Given the description of an element on the screen output the (x, y) to click on. 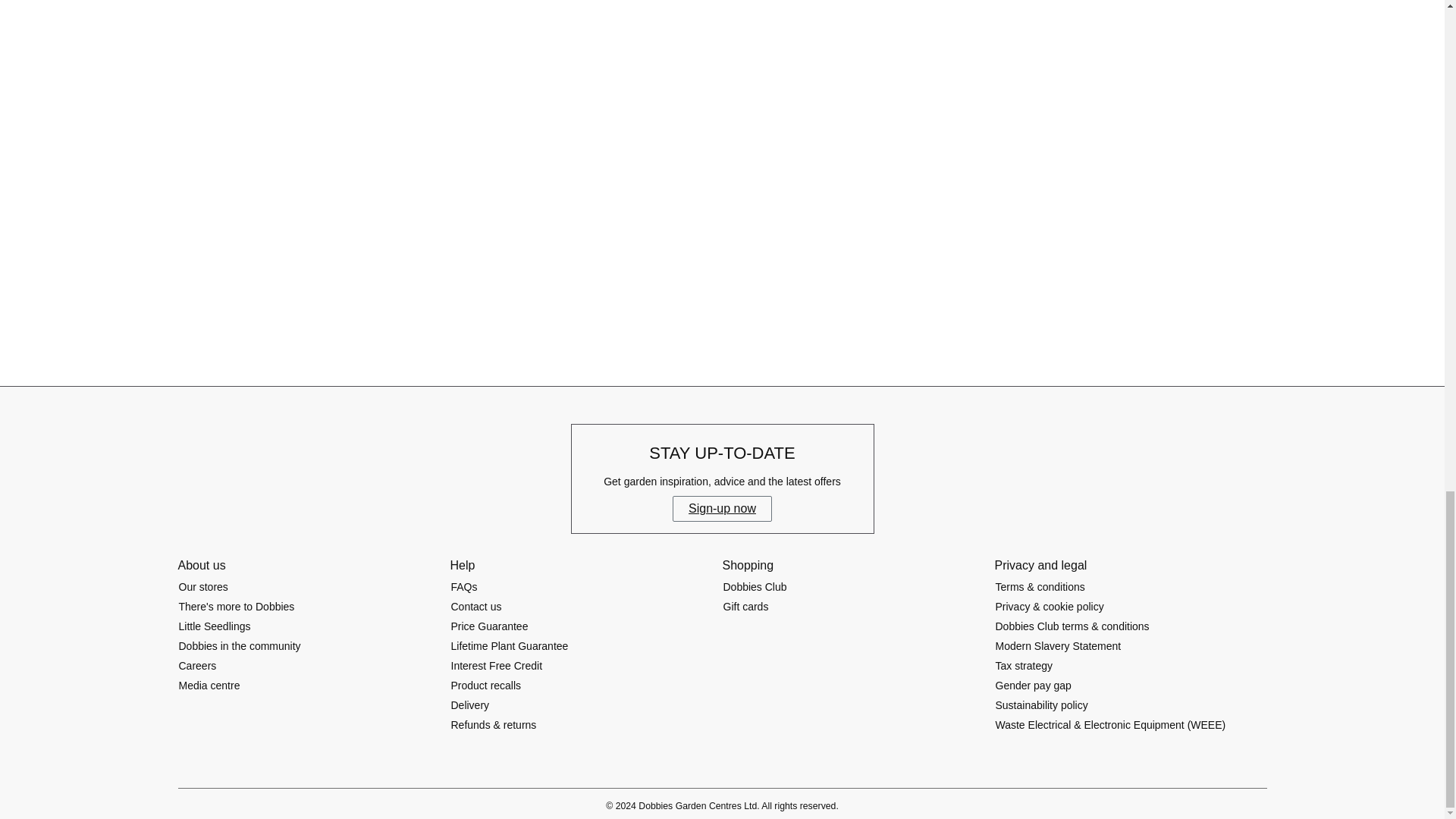
Lifetime Plant Guarantee (509, 645)
FAQs (464, 586)
Delivery (469, 704)
Little Seedlings (213, 626)
Product recalls (485, 685)
Interest Free Credit (496, 665)
Price Guarantee (489, 626)
There's more to Dobbies (236, 606)
Sign-up now (721, 508)
Contact us (475, 606)
